Given the description of an element on the screen output the (x, y) to click on. 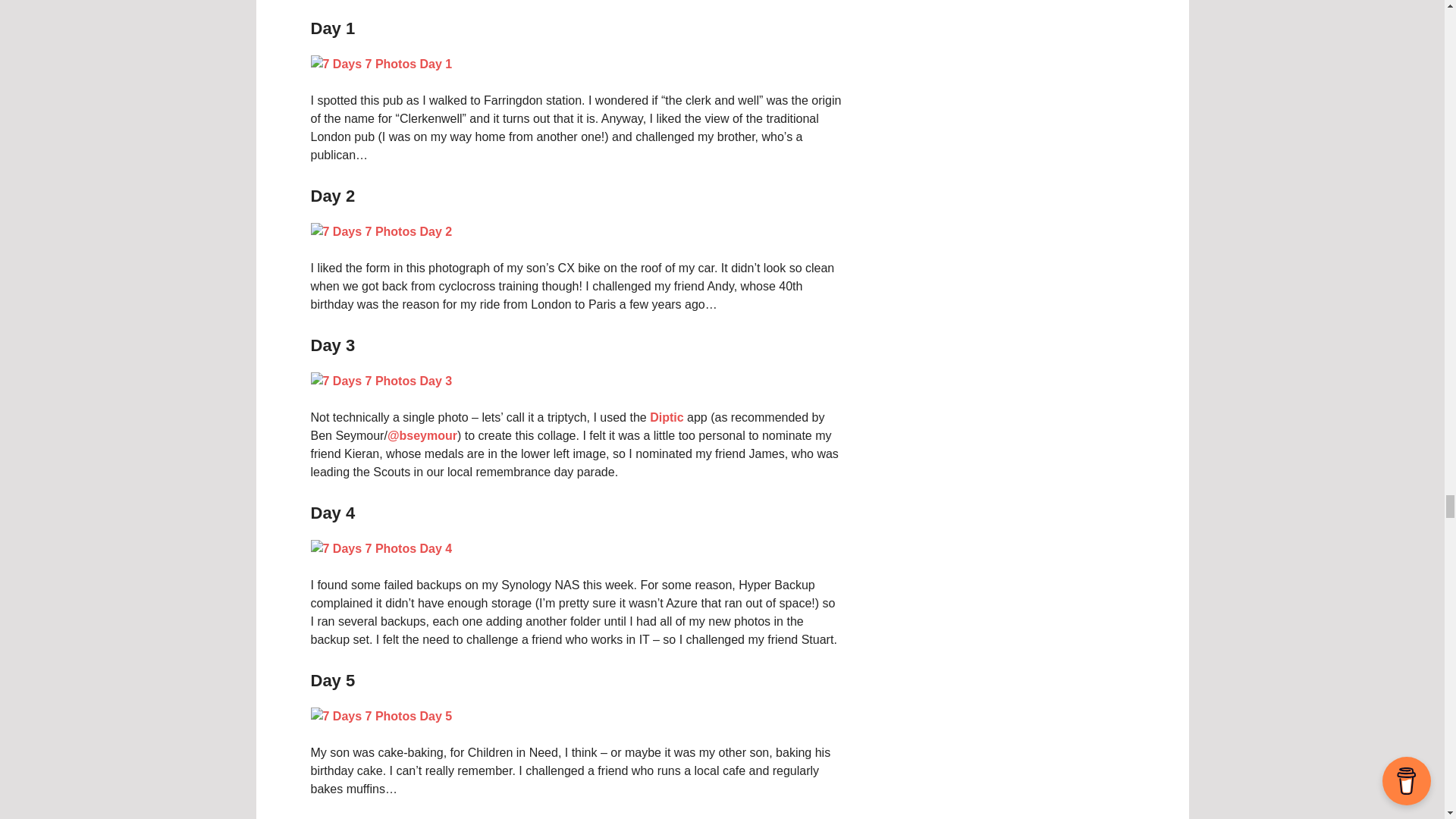
7 Days 7 Photos Day 3 (381, 380)
7 Days 7 Photos Day 5 (381, 716)
7 Days 7 Photos Day 2 (381, 231)
7 Days 7 Photos Day 4 (381, 548)
7 Days 7 Photos Day 1 (381, 63)
